Given the description of an element on the screen output the (x, y) to click on. 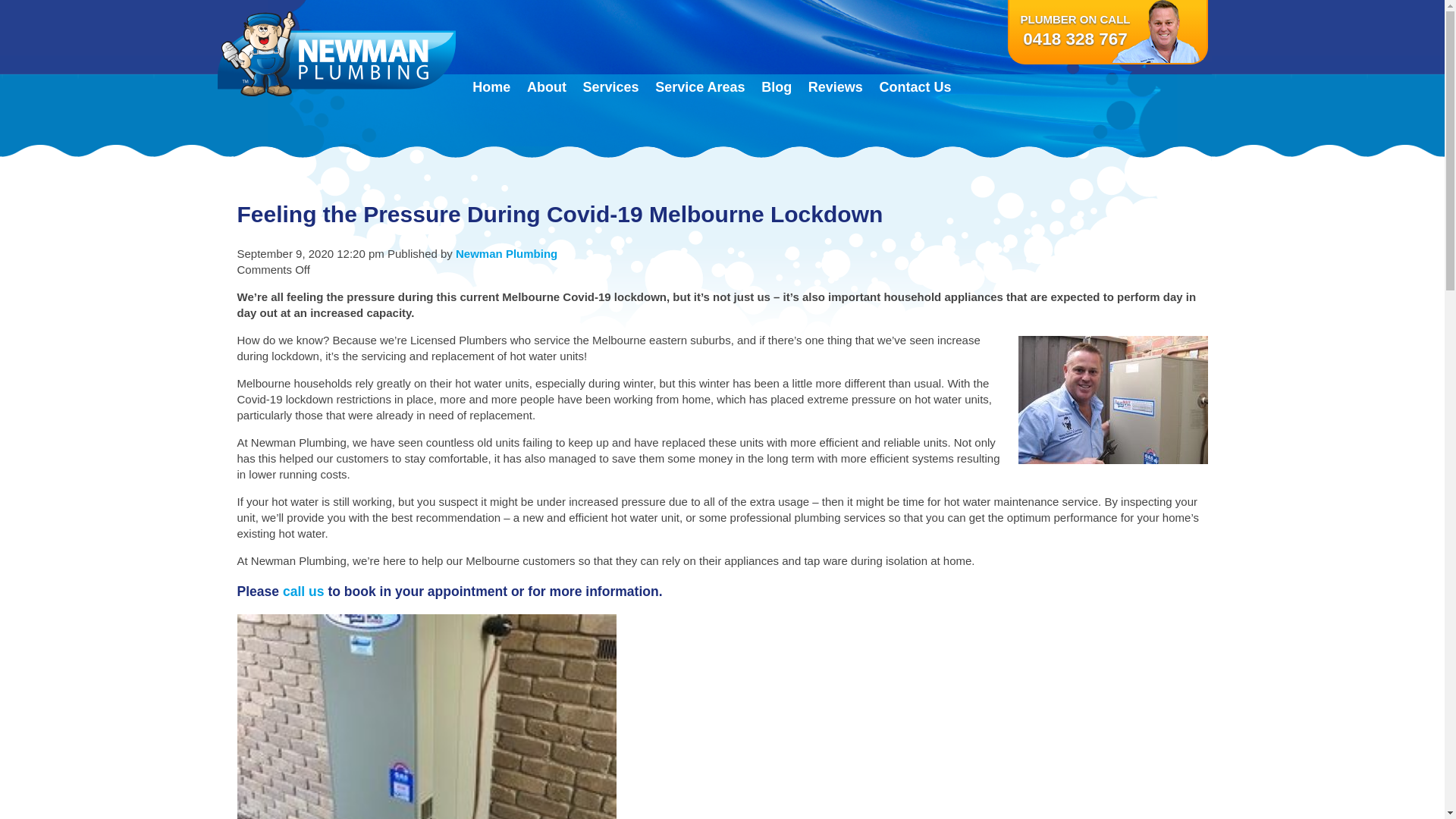
Blog Element type: text (776, 87)
Contact Us Element type: text (915, 87)
Service Areas Element type: text (699, 87)
Reviews Element type: text (835, 87)
Home Element type: text (491, 87)
call us Element type: text (303, 591)
Services Element type: text (610, 87)
0418 328 767 Element type: text (1074, 38)
About Element type: text (546, 87)
Newman Plumbing Element type: text (506, 253)
